Given the description of an element on the screen output the (x, y) to click on. 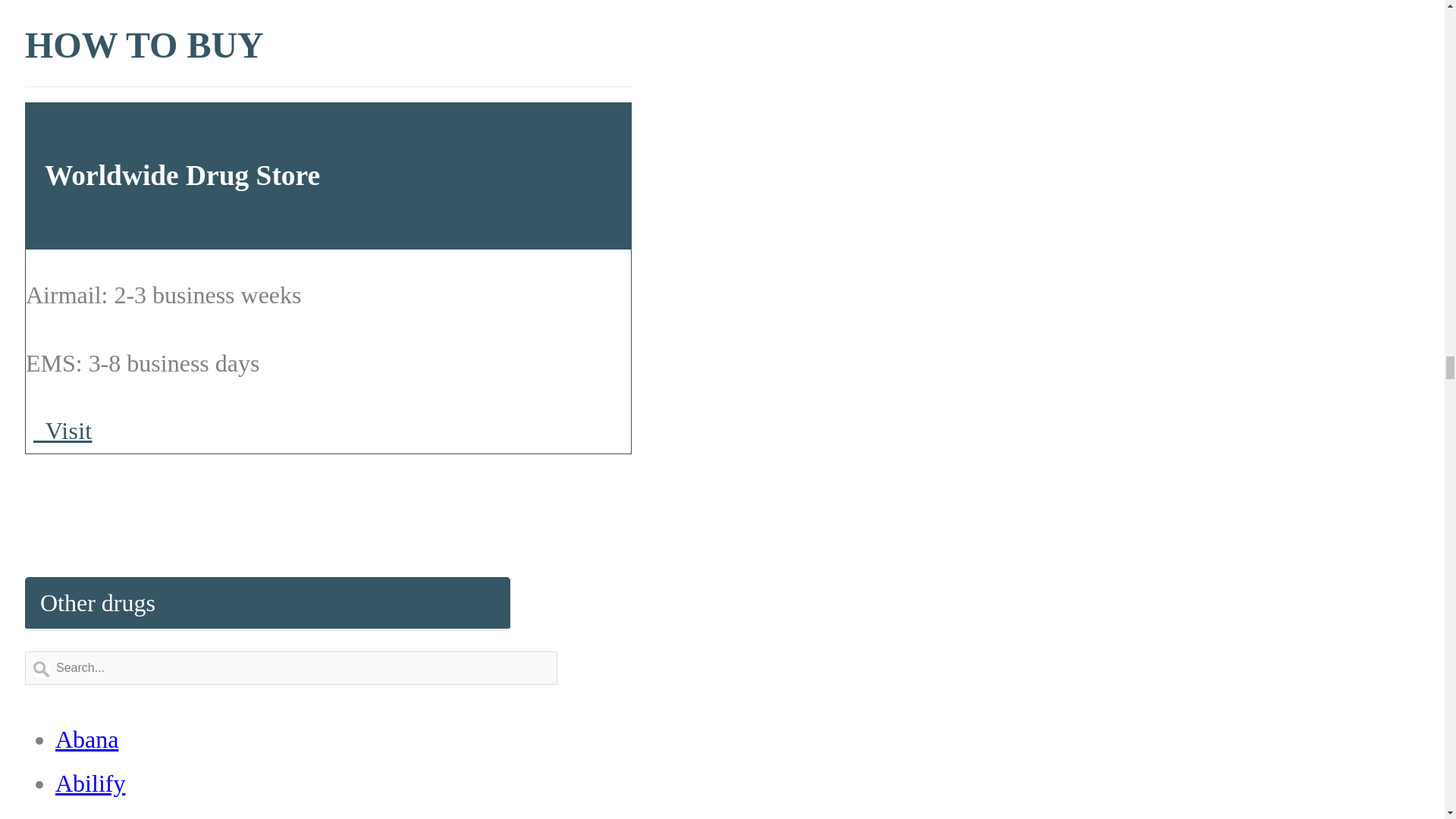
Abana (87, 738)
Accutane (101, 816)
Abilify (90, 782)
Visit (63, 430)
